Given the description of an element on the screen output the (x, y) to click on. 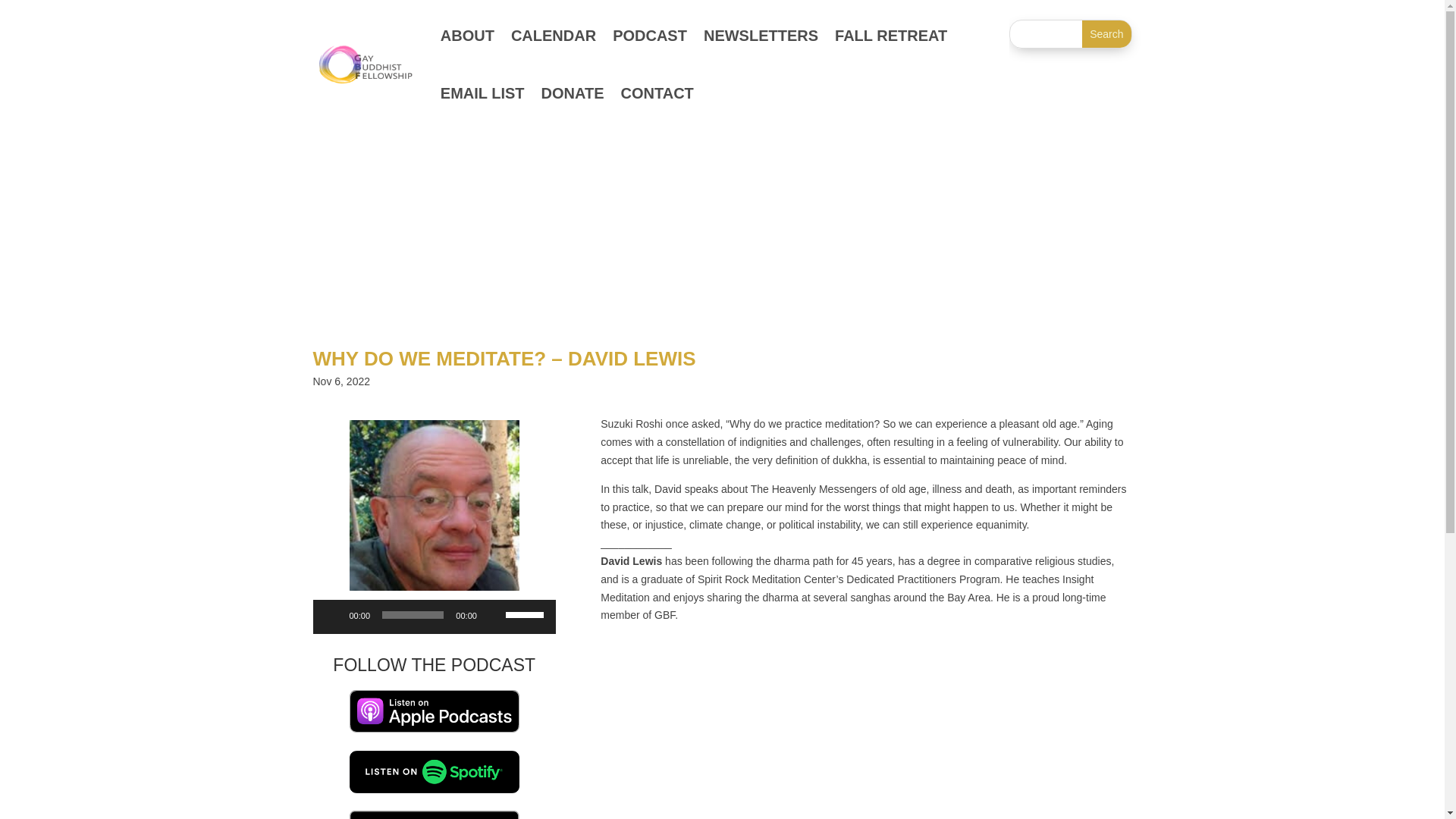
PODCAST (649, 35)
EMAIL LIST (482, 93)
Search (1106, 33)
spotify-400x100 (434, 772)
Search (1106, 33)
NEWSLETTERS (760, 35)
Mute (493, 614)
Search (1106, 33)
FALL RETREAT (890, 35)
CONTACT (657, 93)
